Given the description of an element on the screen output the (x, y) to click on. 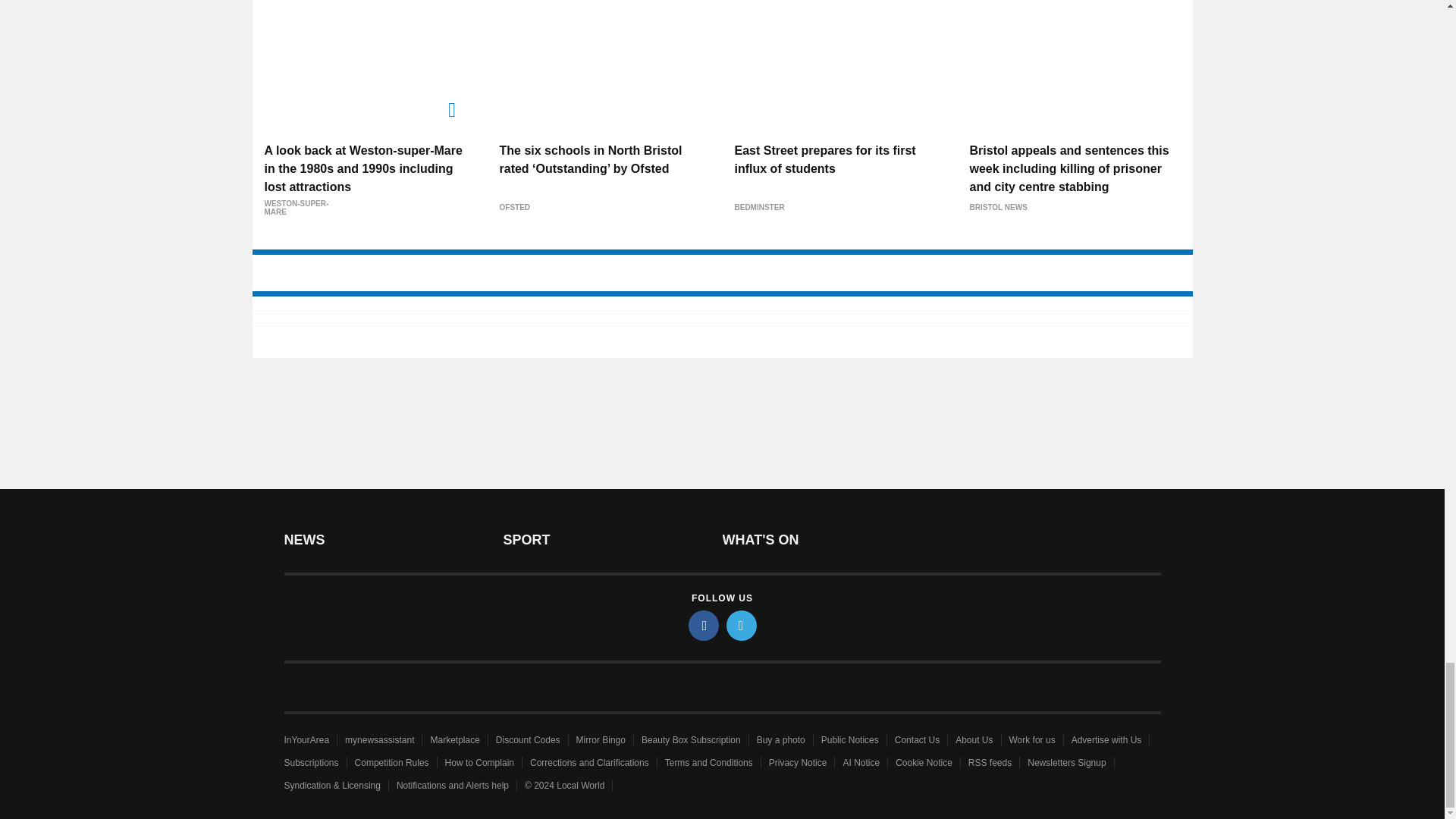
facebook (703, 625)
twitter (741, 625)
